Given the description of an element on the screen output the (x, y) to click on. 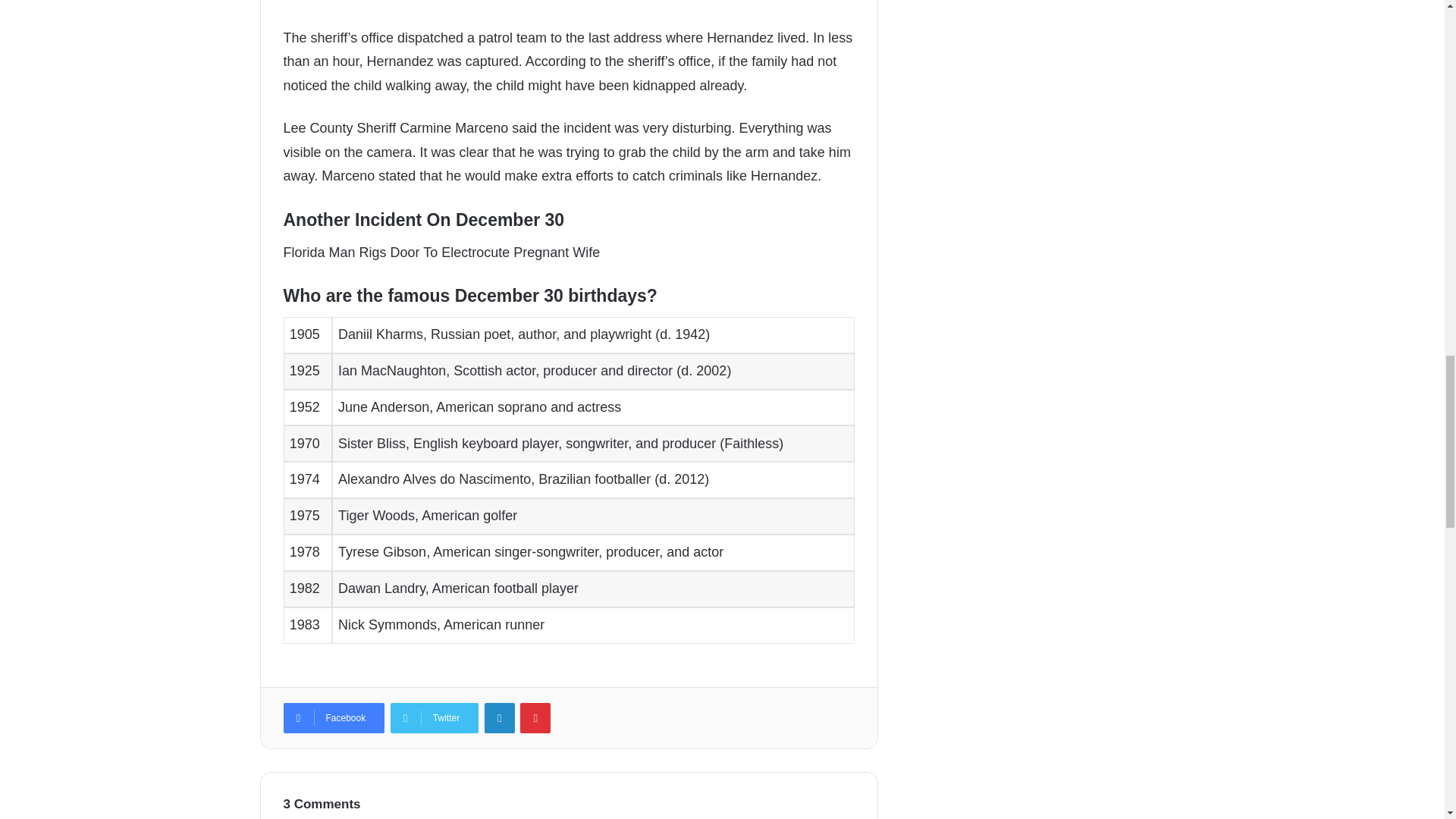
Facebook (334, 717)
Facebook (334, 717)
LinkedIn (499, 717)
LinkedIn (499, 717)
Pinterest (534, 717)
Pinterest (534, 717)
Twitter (434, 717)
Twitter (434, 717)
